Given the description of an element on the screen output the (x, y) to click on. 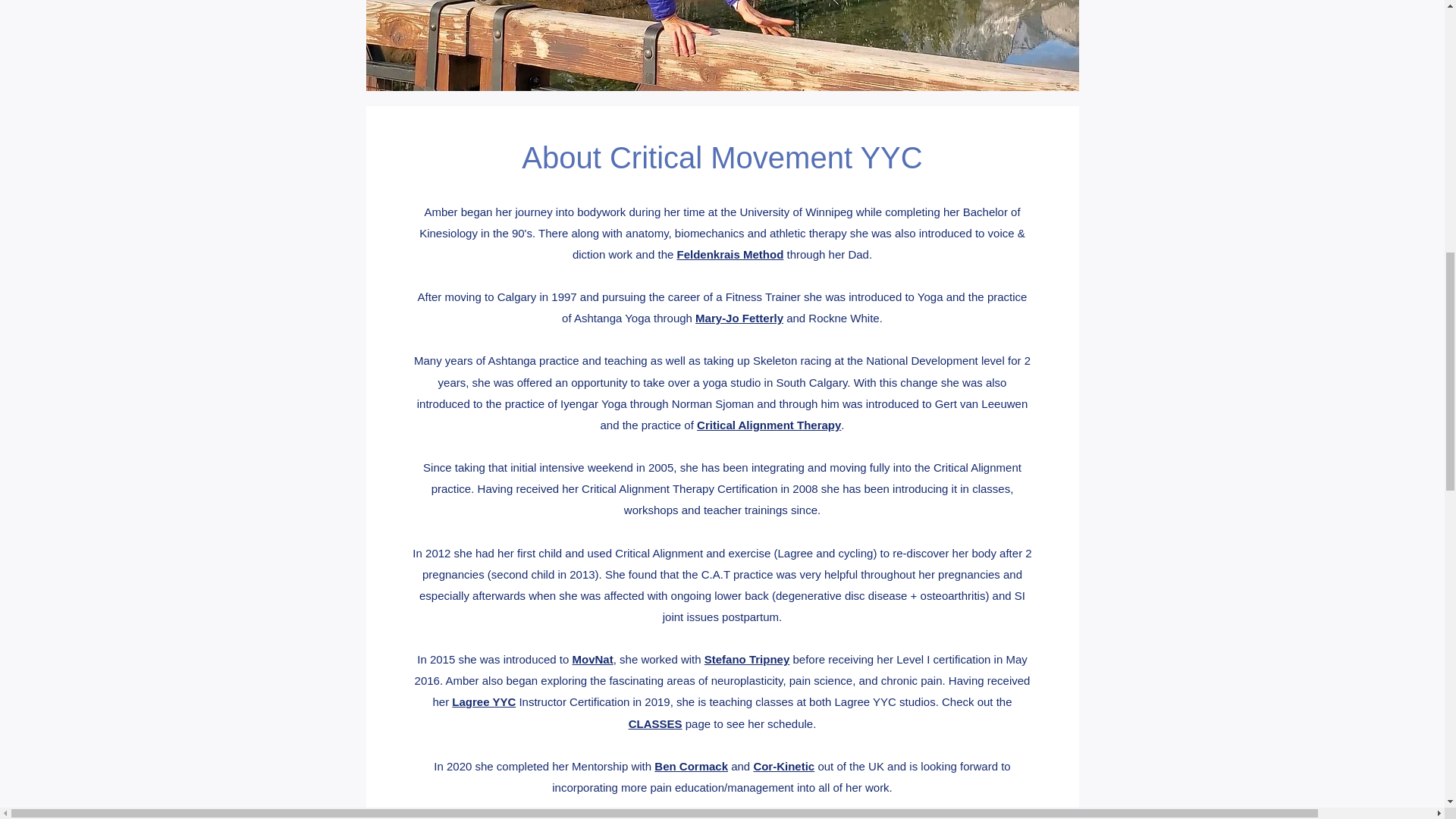
Mary-Jo Fetterly (739, 318)
Lagree YYC (483, 701)
Stefano Tripney (747, 658)
Cor-Kinetic (782, 766)
Feldenkrais Method (730, 254)
Critical Alignment Therapy (769, 424)
MovNat (592, 658)
CLASSES (655, 723)
Ben Cormack (690, 766)
